Given the description of an element on the screen output the (x, y) to click on. 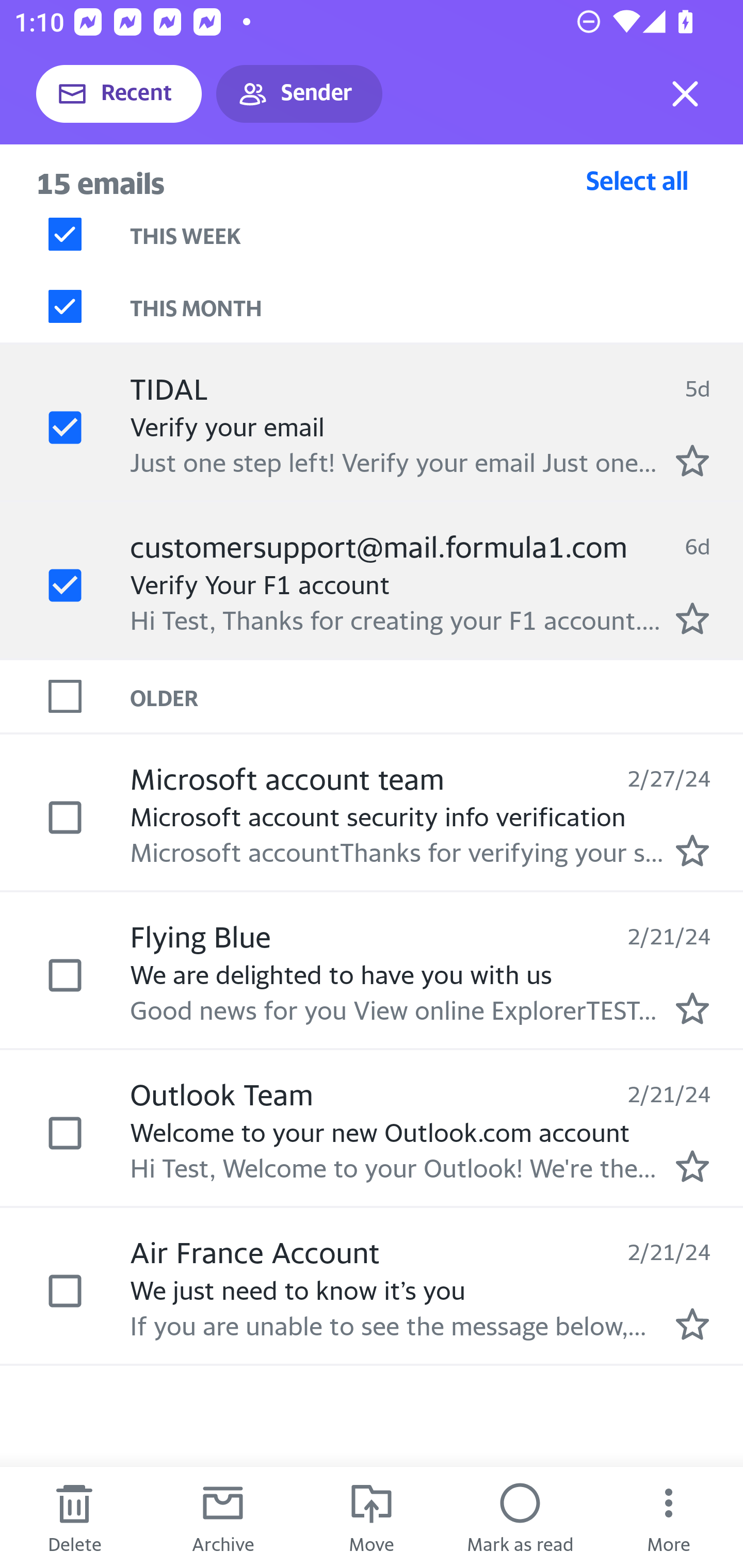
Sender (299, 93)
Exit selection mode (684, 93)
Select all (637, 180)
THIS MONTH (436, 306)
Mark as starred. (692, 460)
Mark as starred. (692, 618)
OLDER (436, 696)
Mark as starred. (692, 850)
Mark as starred. (692, 1008)
Mark as starred. (692, 1165)
Mark as starred. (692, 1324)
Delete (74, 1517)
Archive (222, 1517)
Move (371, 1517)
Mark as read (519, 1517)
More (668, 1517)
